Given the description of an element on the screen output the (x, y) to click on. 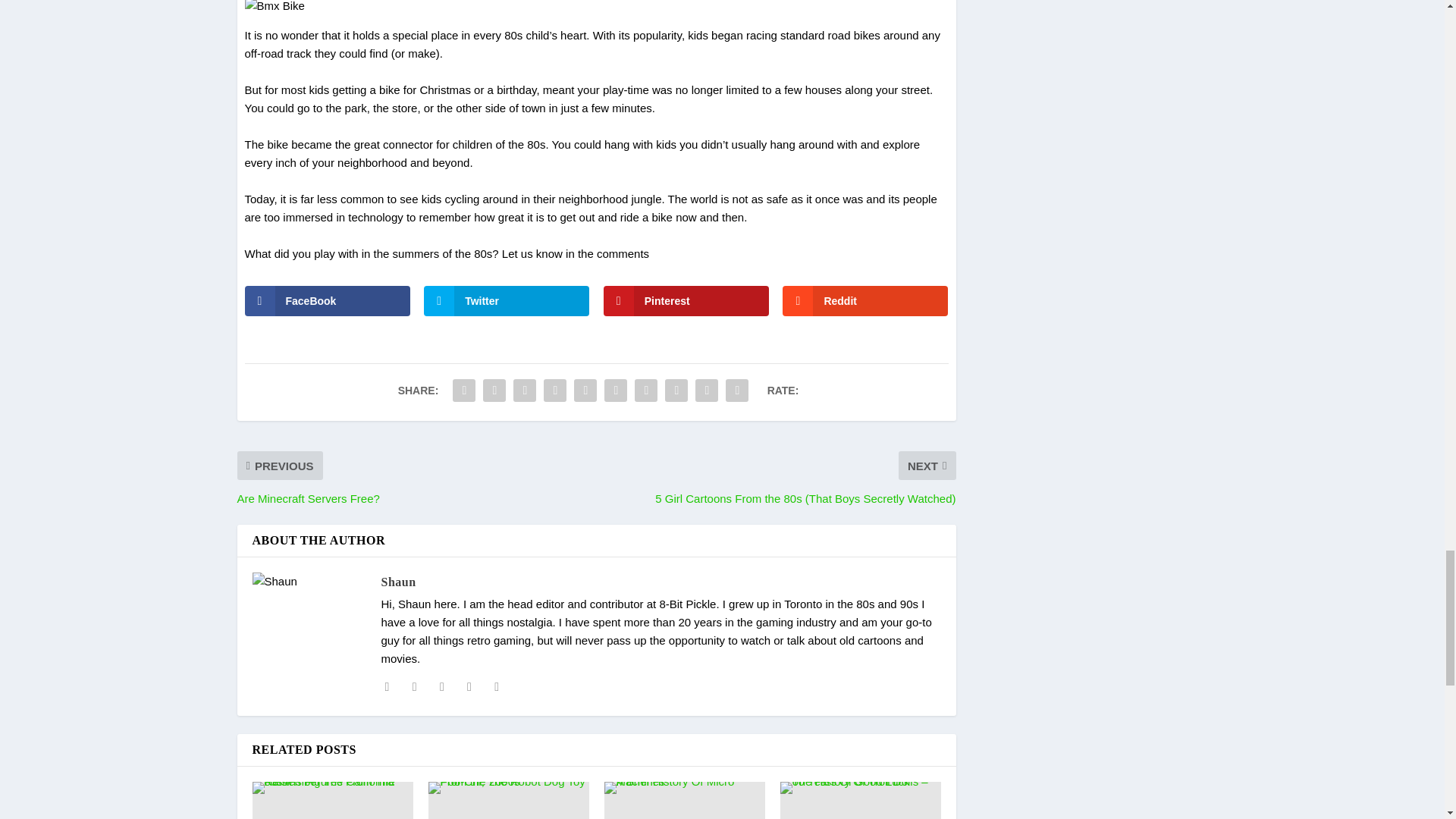
Pinterest (686, 300)
Reddit (865, 300)
Share "5 Best Summer Toys Of The 80s" via Twitter (494, 390)
Share "5 Best Summer Toys Of The 80s" via Facebook (463, 390)
FaceBook (326, 300)
Twitter (506, 300)
